Given the description of an element on the screen output the (x, y) to click on. 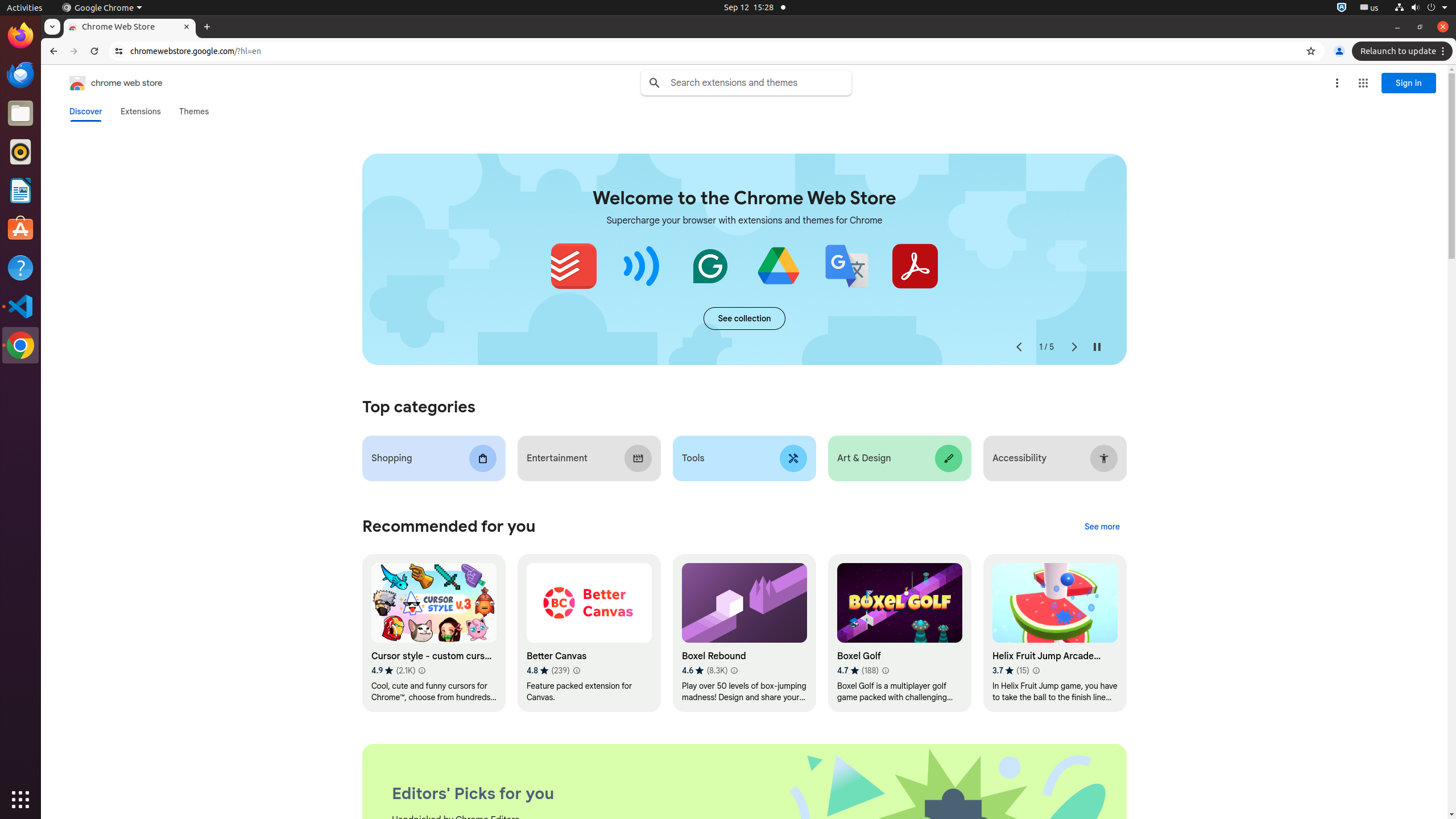
Discover Element type: page-tab (85, 111)
